Given the description of an element on the screen output the (x, y) to click on. 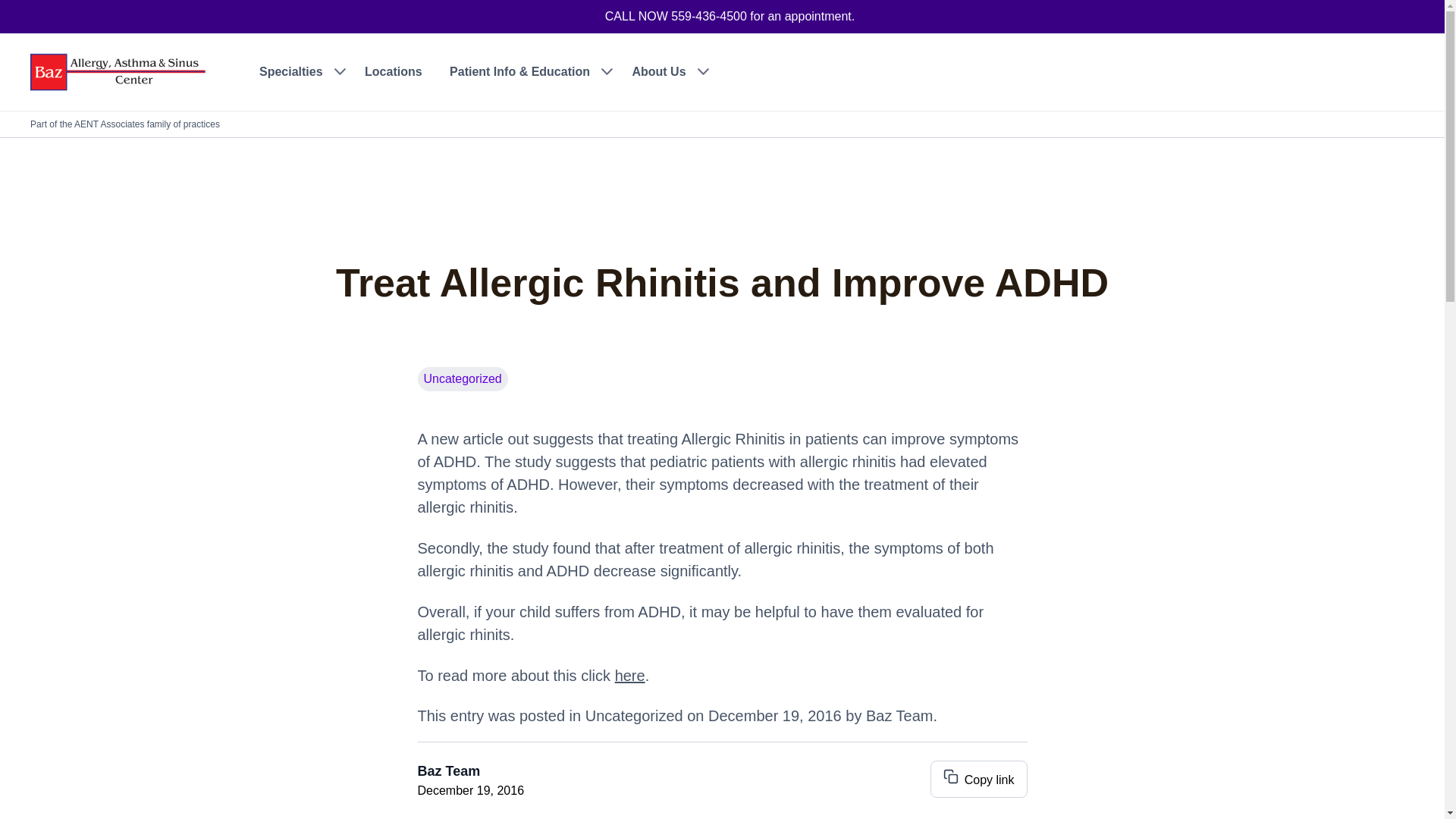
Locations (392, 71)
About Us (665, 71)
Specialties (298, 71)
Uncategorized (633, 715)
Copy link (978, 778)
here (629, 675)
